Given the description of an element on the screen output the (x, y) to click on. 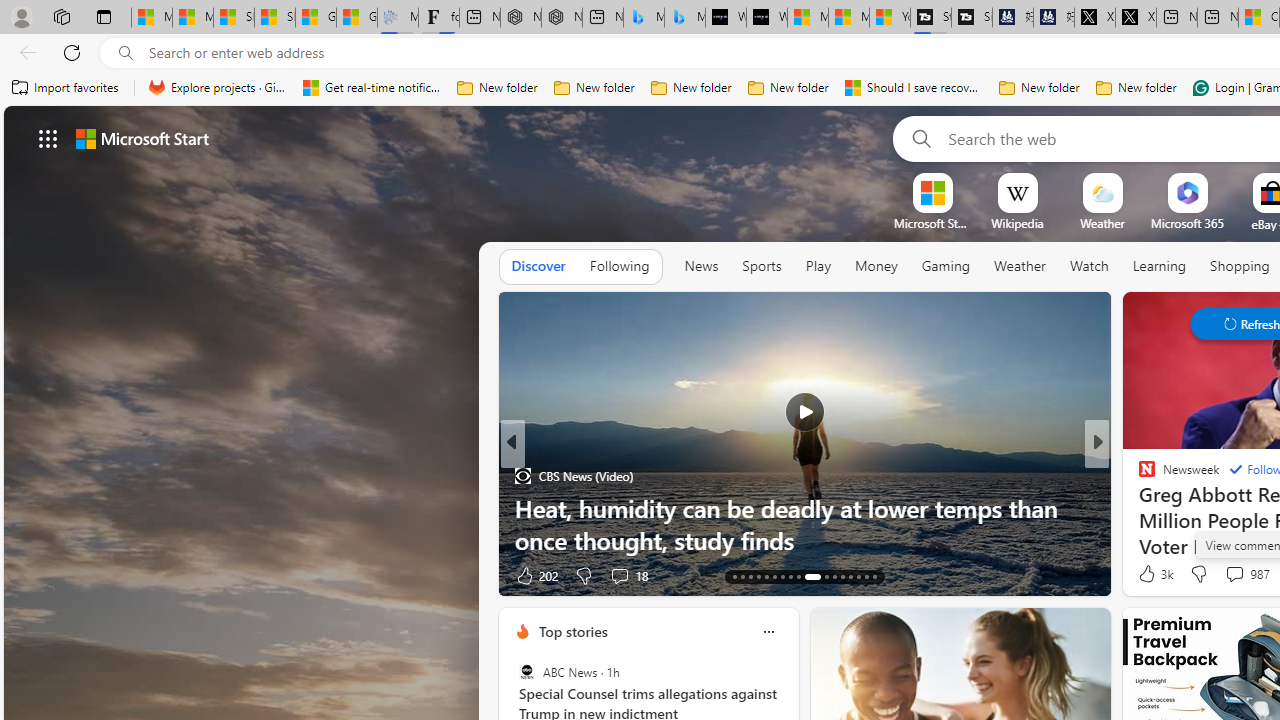
Weather (1020, 265)
AutomationID: tab-26 (850, 576)
AutomationID: tab-29 (874, 576)
View comments 52 Comment (1237, 574)
Class: icon-img (768, 632)
View comments 18 Comment (619, 575)
News (701, 265)
Refresh (72, 52)
View comments 52 Comment (1229, 575)
Personal Profile (21, 16)
Gaming (945, 265)
AutomationID: tab-13 (733, 576)
Play (818, 267)
View comments 174 Comment (11, 575)
